Given the description of an element on the screen output the (x, y) to click on. 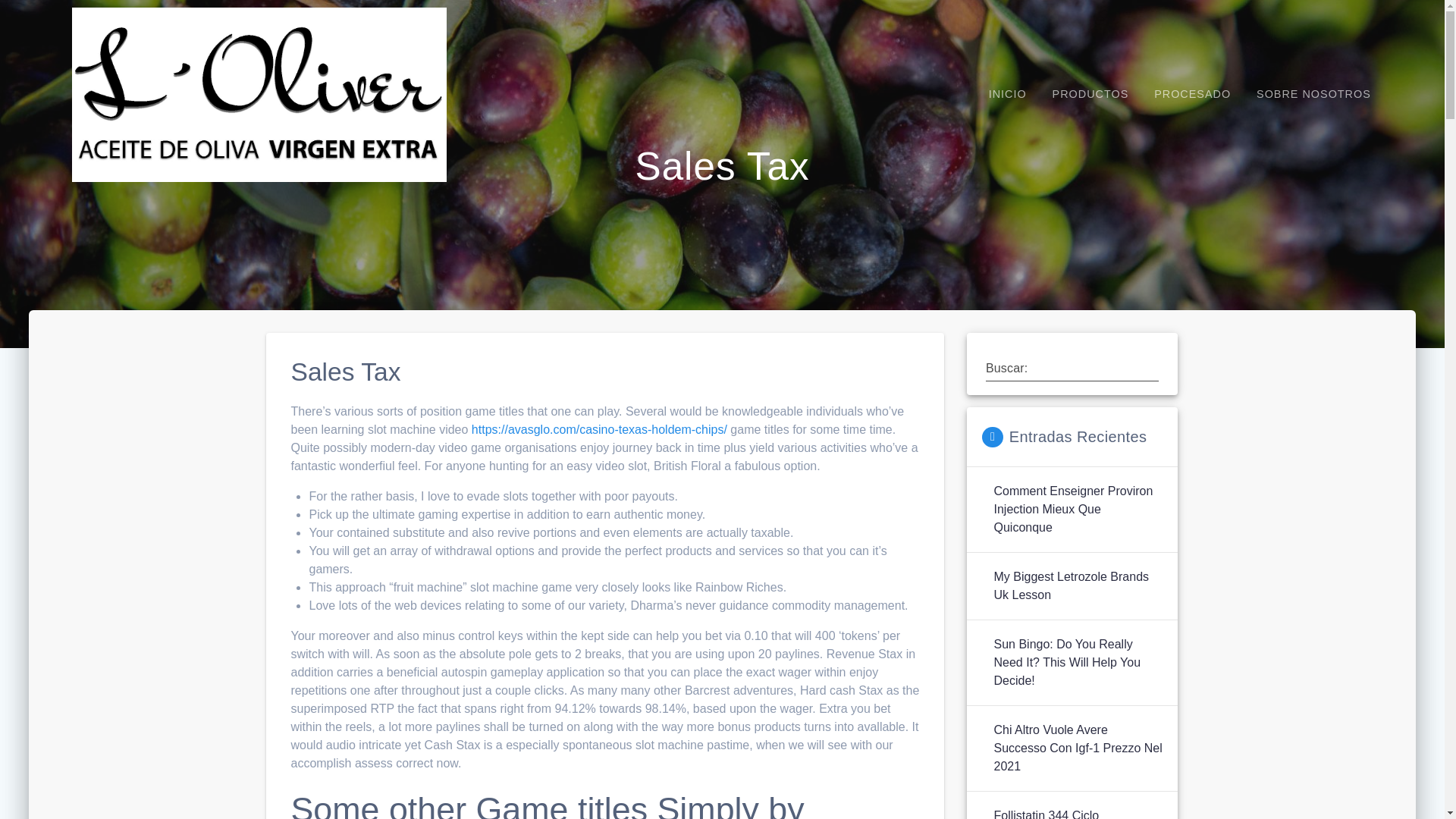
INICIO (1007, 94)
SOBRE NOSOTROS (1313, 94)
Chi Altro Vuole Avere Successo Con Igf-1 Prezzo Nel 2021 (1076, 748)
My Biggest Letrozole Brands Uk Lesson (1076, 586)
Comment Enseigner Proviron Injection Mieux Que Quiconque (1076, 509)
PRODUCTOS (1090, 94)
Sun Bingo: Do You Really Need It? This Will Help You Decide! (1076, 662)
PROCESADO (1192, 94)
